Given the description of an element on the screen output the (x, y) to click on. 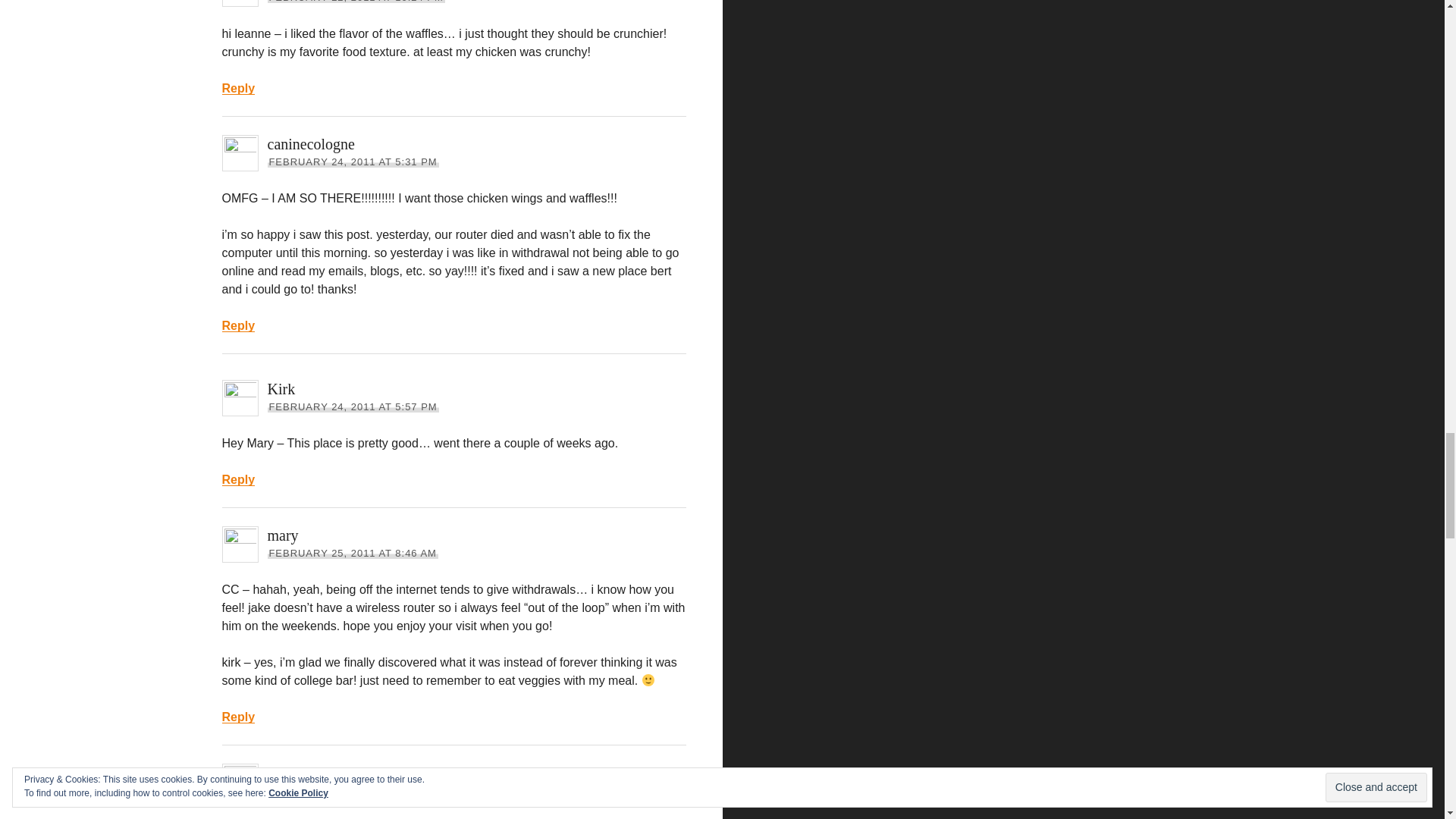
FEBRUARY 22, 2011 AT 10:24 PM (355, 1)
Reply (237, 88)
